Given the description of an element on the screen output the (x, y) to click on. 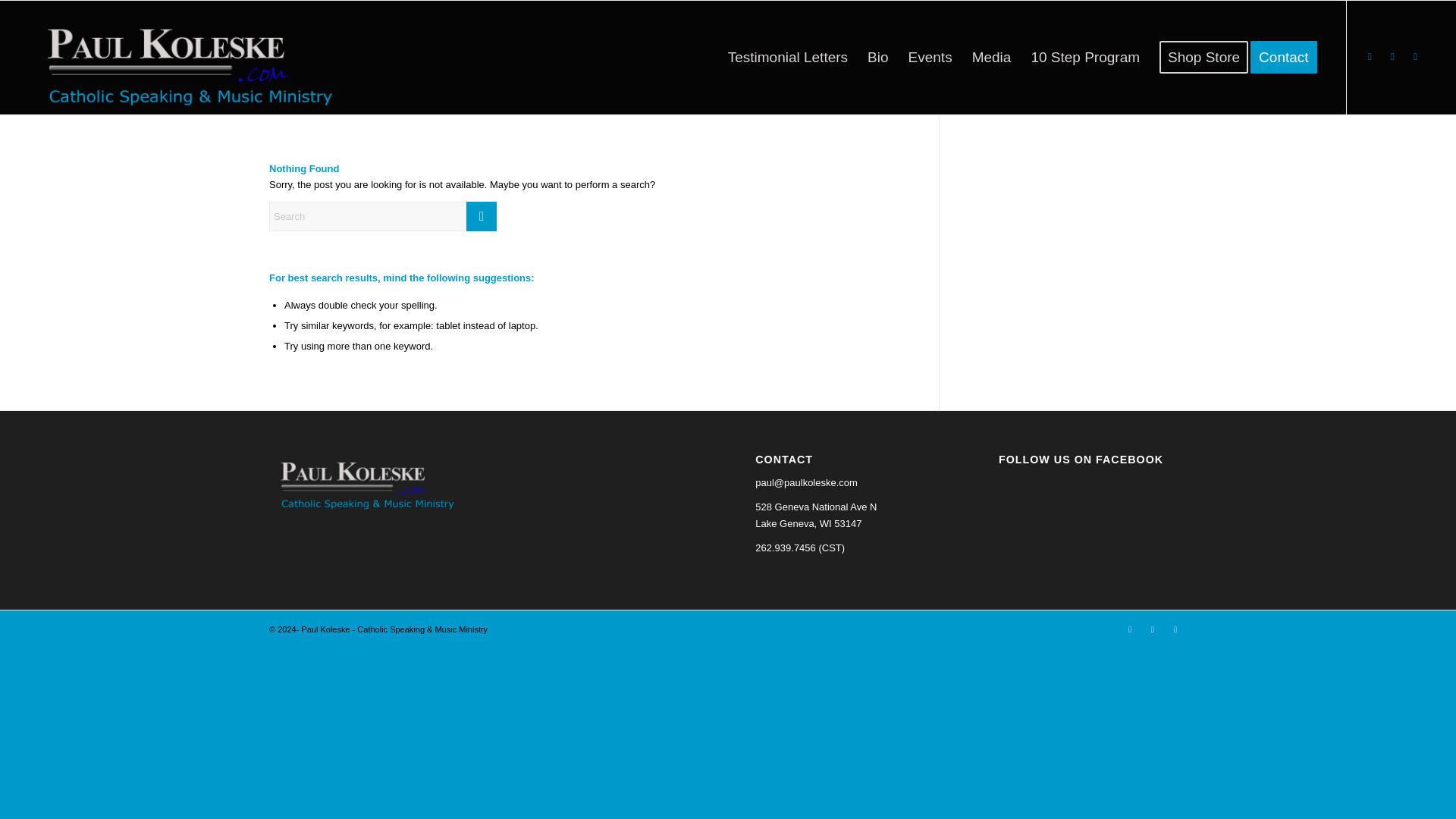
Mail (1415, 56)
Shop Store (1203, 57)
10 Step Program (1085, 57)
Facebook (1129, 629)
Youtube (1393, 56)
Click to start search (480, 215)
Testimonial Letters (787, 57)
Youtube (1152, 629)
Facebook (1369, 56)
Mail (1174, 629)
